Given the description of an element on the screen output the (x, y) to click on. 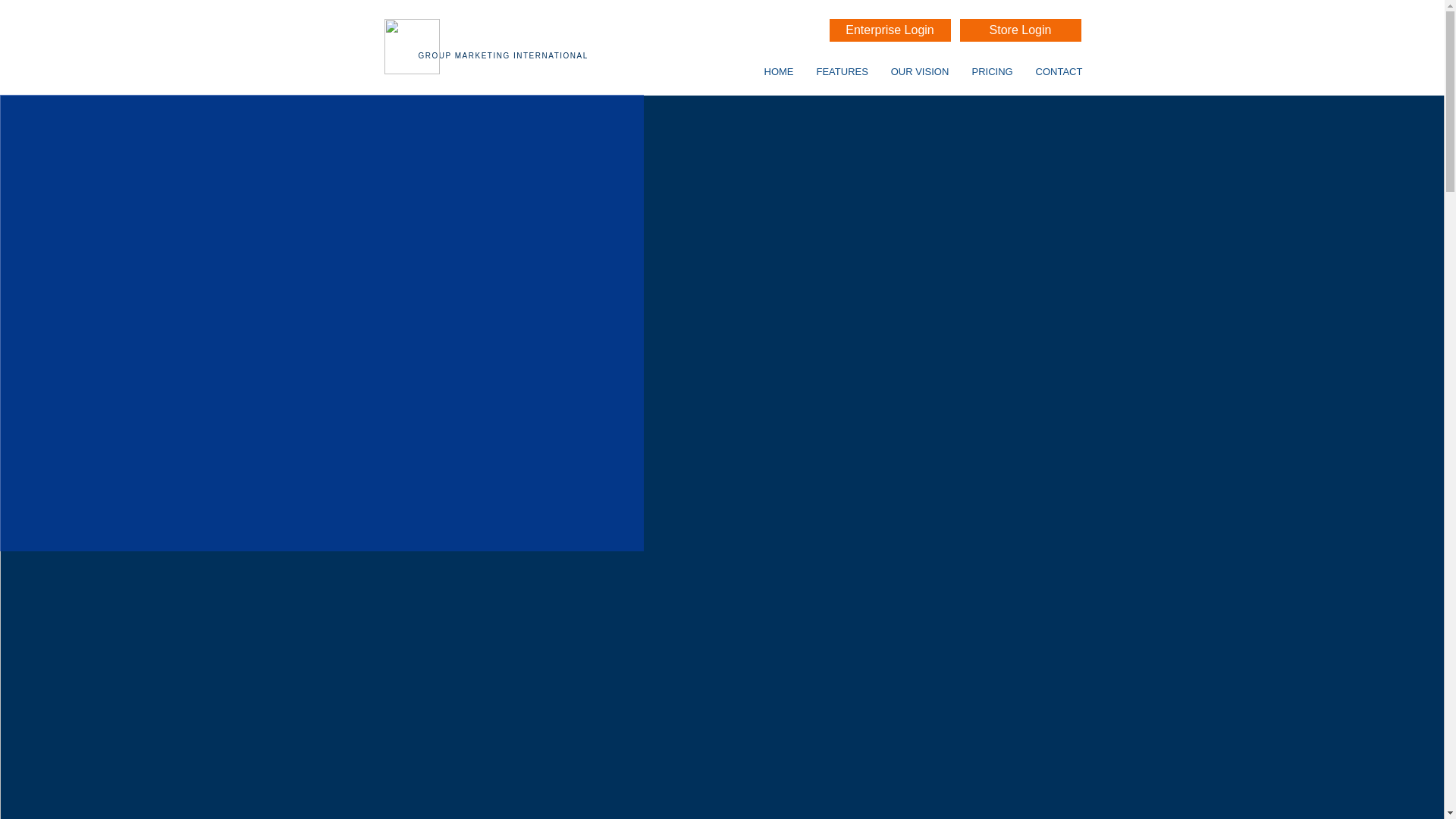
OUR VISION (919, 71)
PRICING (991, 71)
HOME (778, 71)
Store Login (1020, 29)
Enterprise Login (889, 29)
CONTACT (1058, 71)
FEATURES (842, 71)
